Given the description of an element on the screen output the (x, y) to click on. 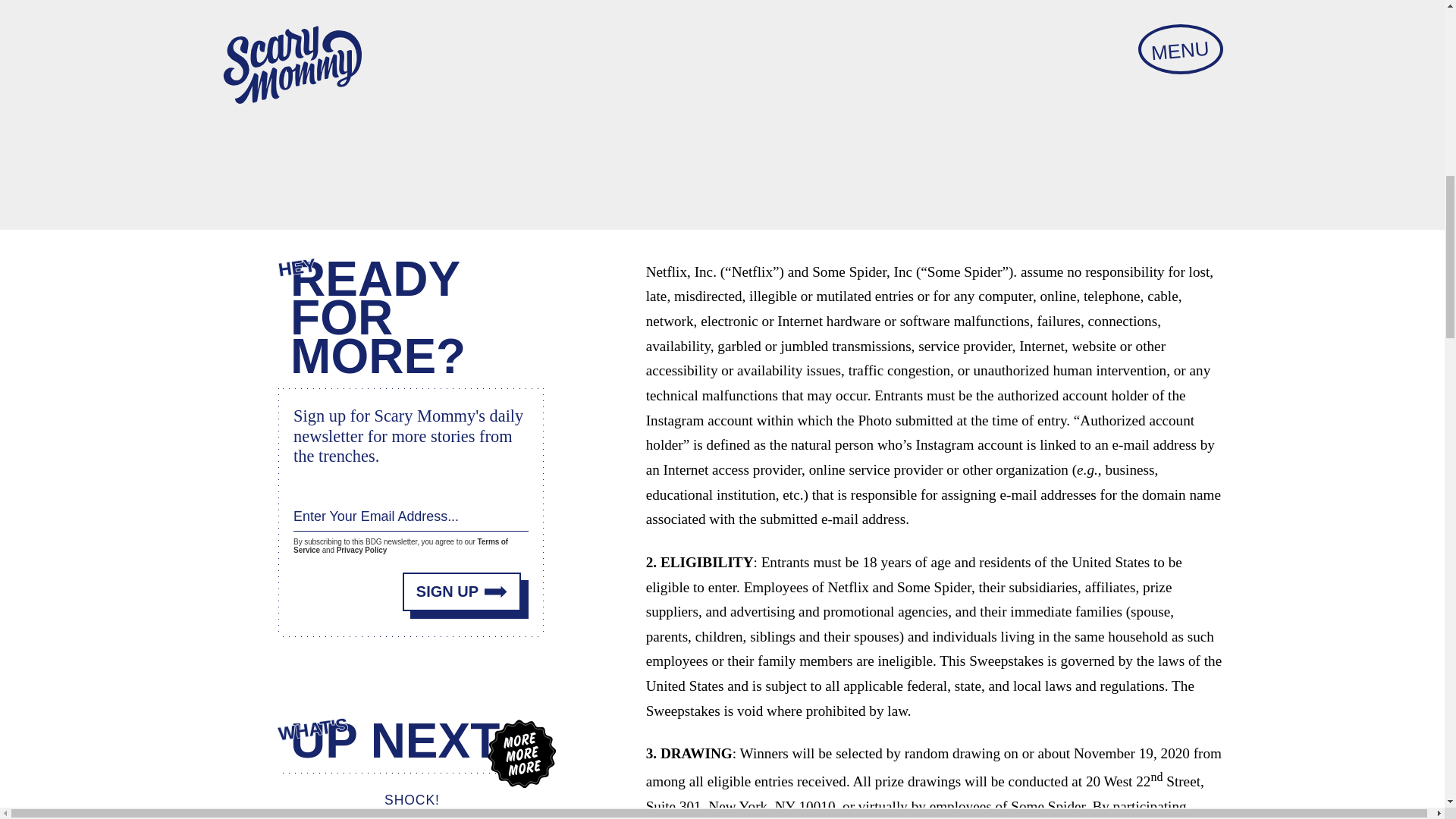
Terms of Service (401, 545)
SIGN UP (462, 589)
Privacy Policy (361, 550)
